Given the description of an element on the screen output the (x, y) to click on. 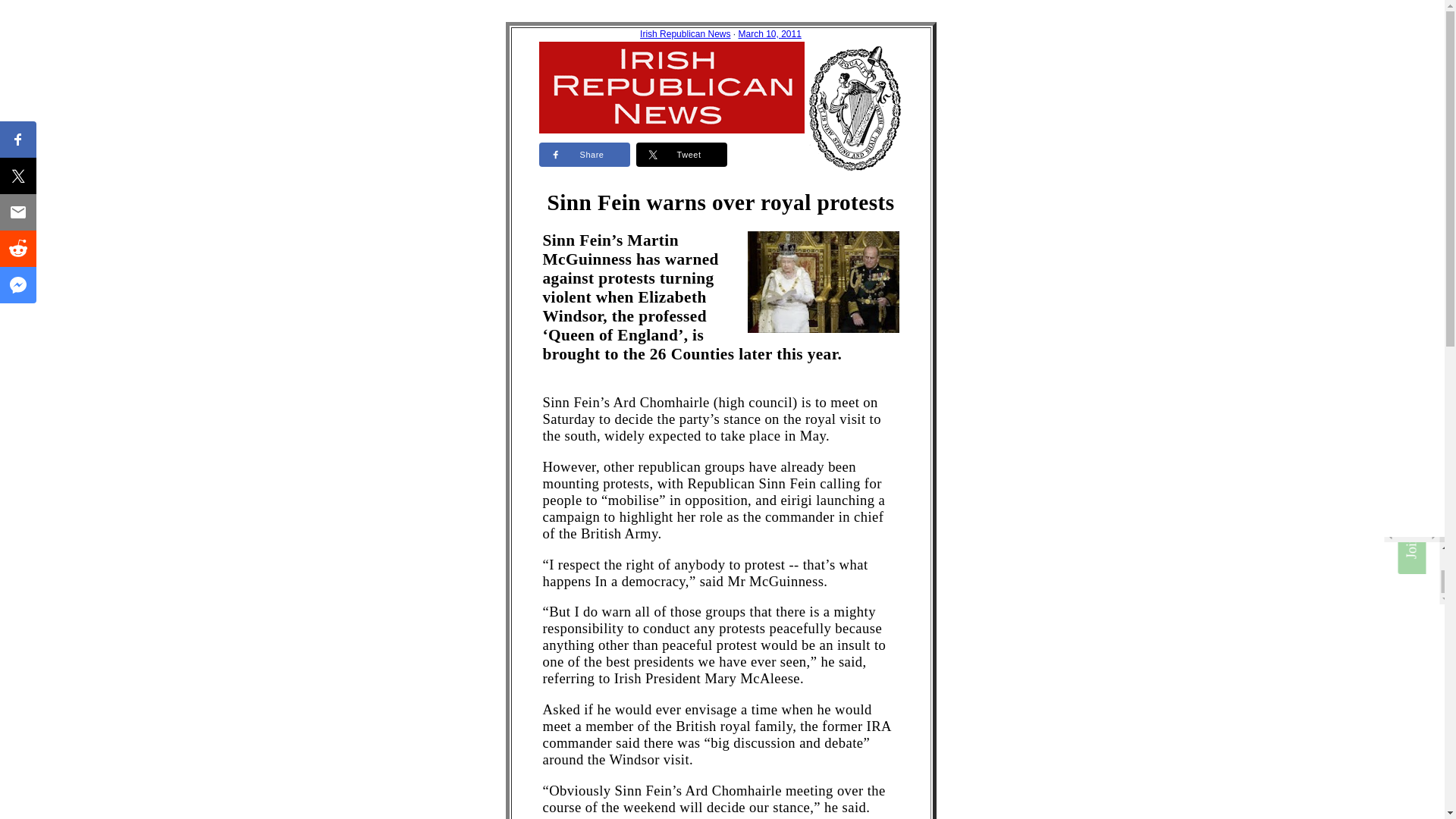
March 10, 2011 (770, 33)
Irish Republican News (685, 33)
